Given the description of an element on the screen output the (x, y) to click on. 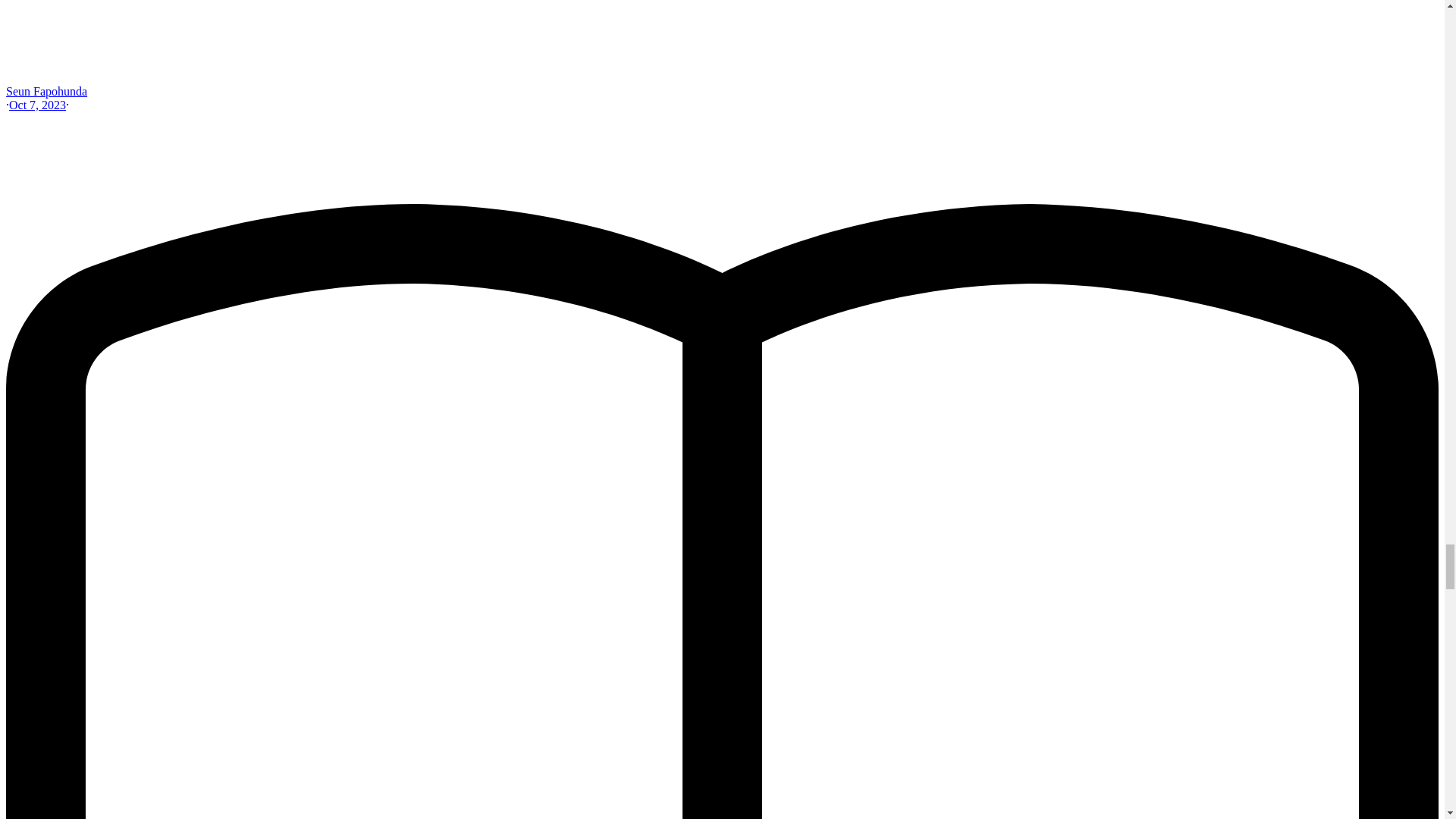
Oct 7, 2023 (36, 104)
Seun Fapohunda (46, 91)
